Given the description of an element on the screen output the (x, y) to click on. 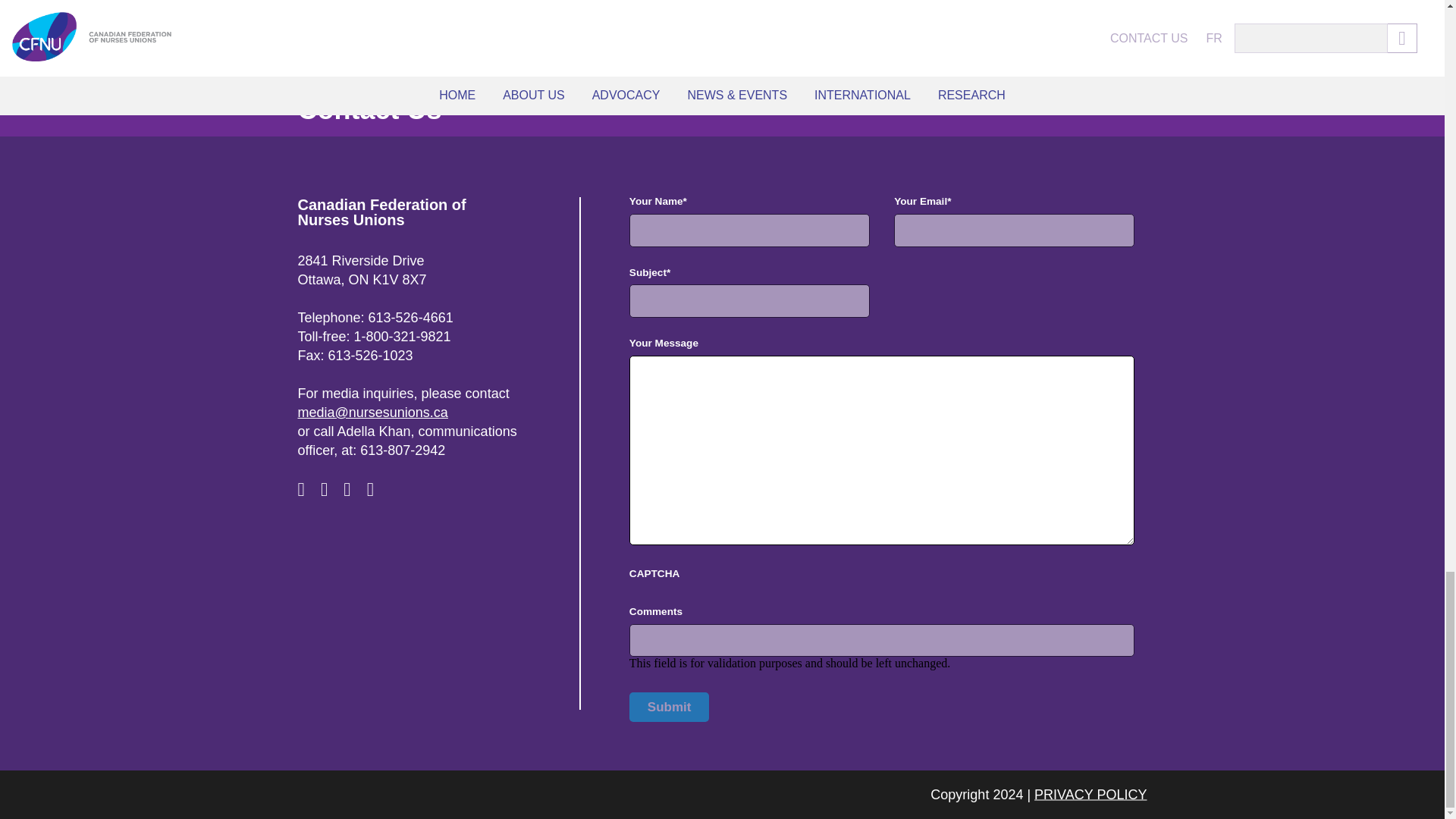
Submit (669, 706)
